Given the description of an element on the screen output the (x, y) to click on. 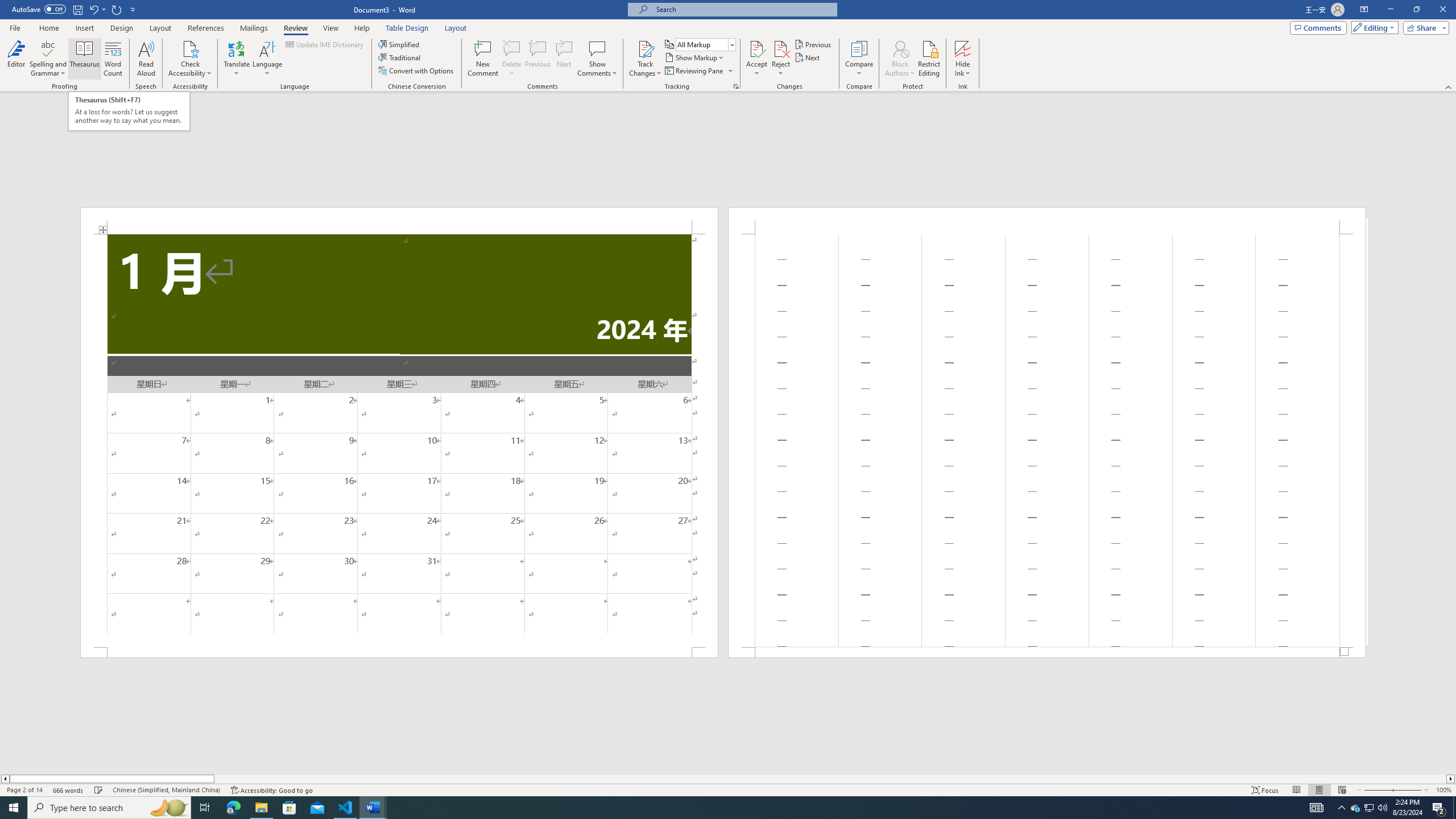
Reviewing Pane (694, 69)
Delete (511, 58)
New Comment (482, 58)
Accept and Move to Next (756, 48)
